Given the description of an element on the screen output the (x, y) to click on. 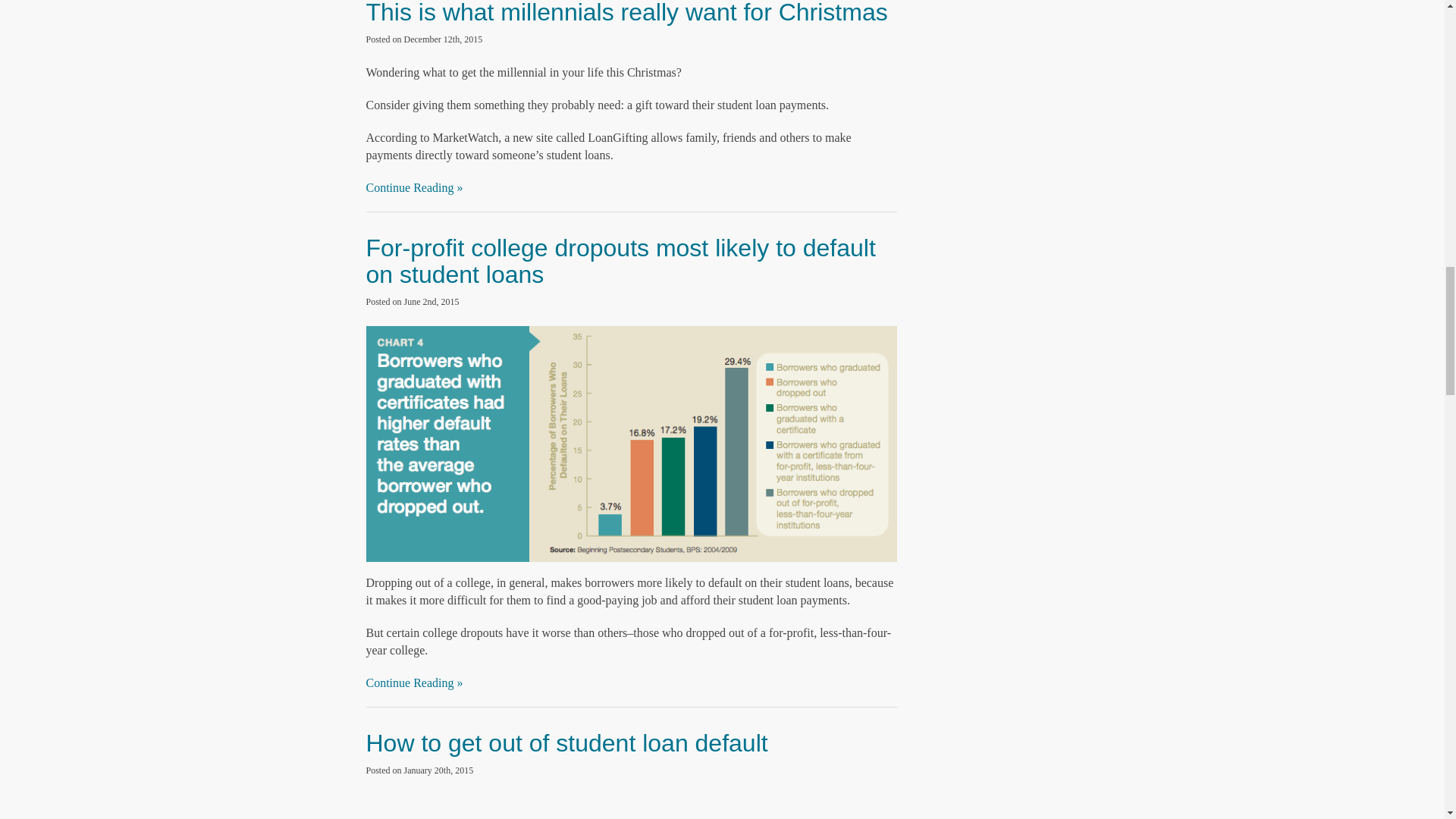
How to get out of student loan default (566, 742)
Read more (620, 260)
Read more (566, 742)
Read more (625, 12)
This is what millennials really want for Christmas (625, 12)
